Given the description of an element on the screen output the (x, y) to click on. 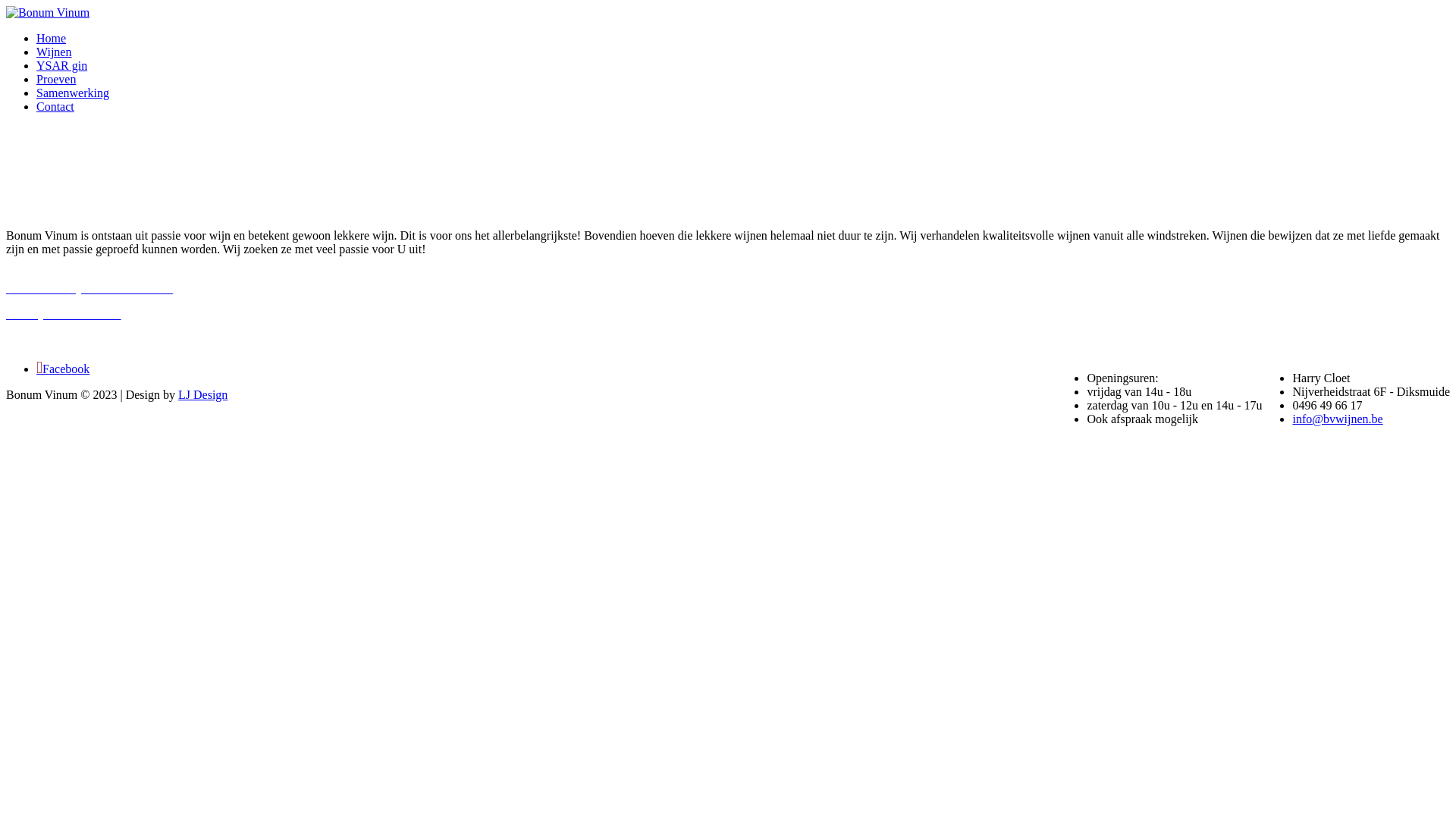
Inschrijven nieuwsbrief Element type: text (63, 313)
Home Element type: text (50, 37)
Proeven Element type: text (55, 78)
LJ Design Element type: text (202, 394)
wat kunnen wij voor u betekenen? Element type: text (89, 288)
Facebook Element type: text (62, 367)
YSAR gin Element type: text (61, 65)
info@bvwijnen.be Element type: text (1337, 418)
Samenwerking Element type: text (72, 92)
Wijnen Element type: text (53, 51)
Contact Element type: text (55, 106)
